Given the description of an element on the screen output the (x, y) to click on. 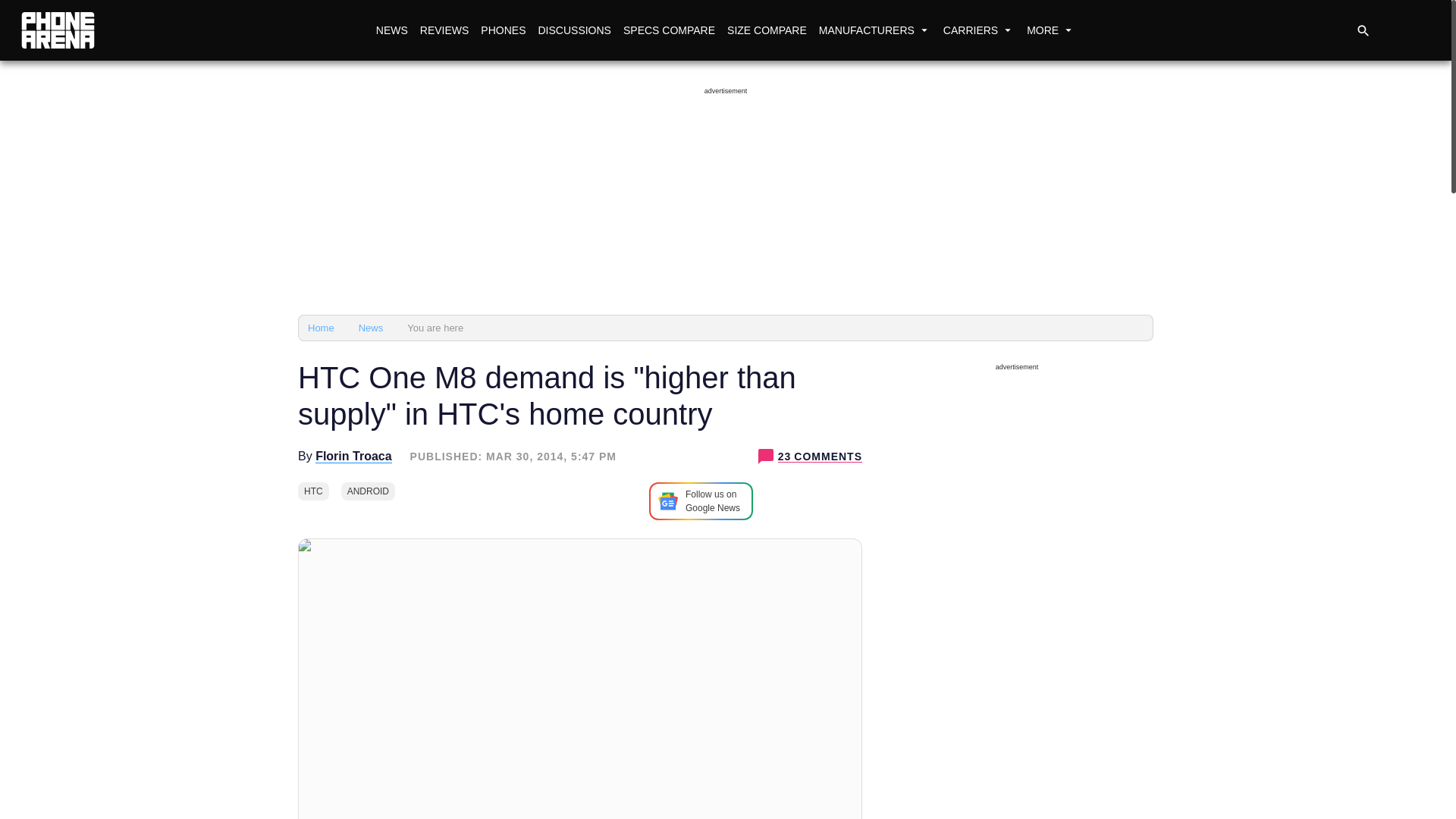
SIZE COMPARE (766, 30)
MORE (1050, 30)
DISCUSSIONS (573, 30)
CARRIERS (978, 30)
MANUFACTURERS (874, 30)
SPECS COMPARE (668, 30)
NEWS (391, 30)
REVIEWS (444, 30)
PHONES (502, 30)
